Given the description of an element on the screen output the (x, y) to click on. 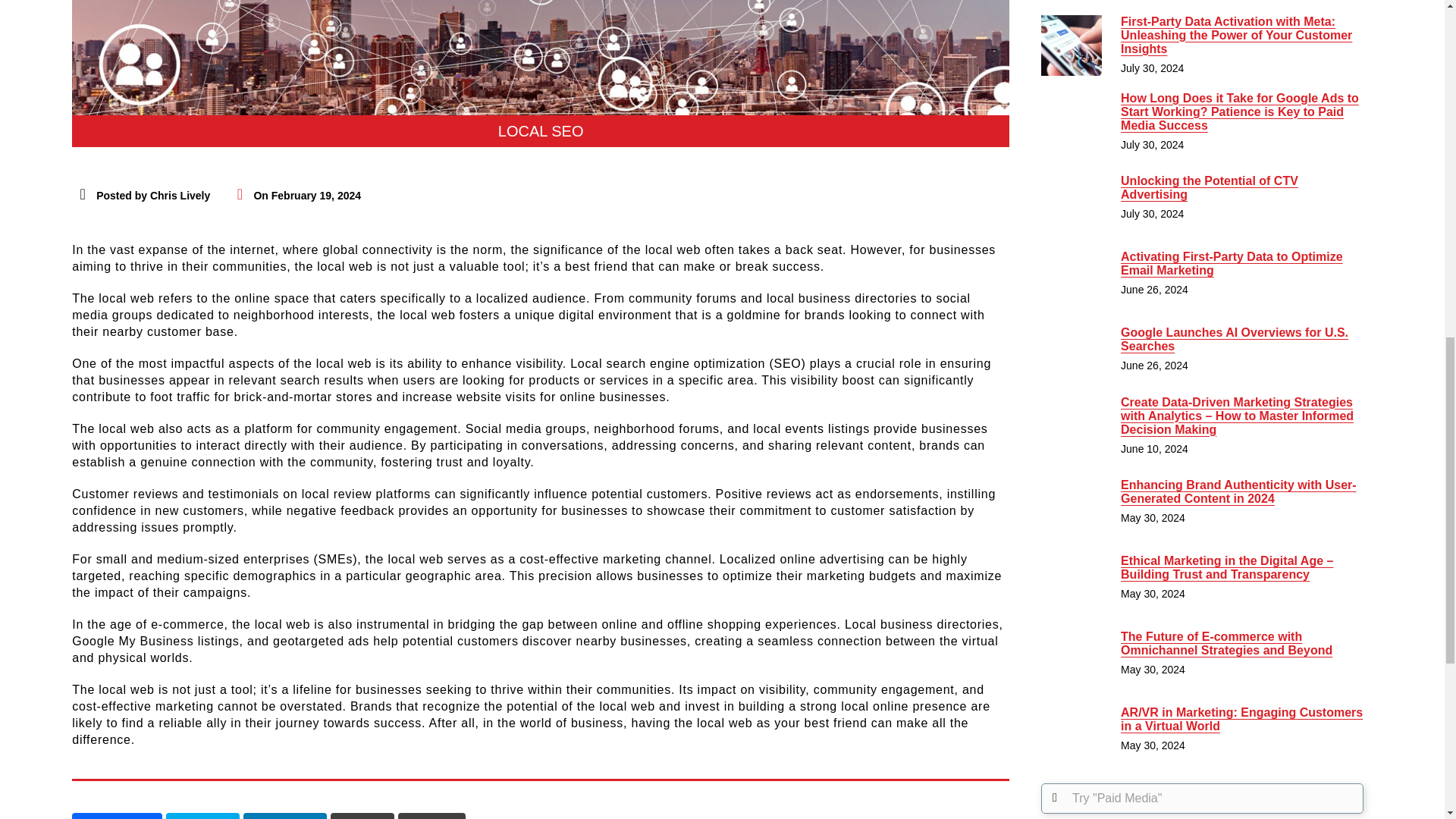
Share on Email (431, 816)
Share on Twitter (202, 816)
Share on Print (362, 816)
Share on LinkedIn (284, 816)
Share on Facebook (116, 816)
